Given the description of an element on the screen output the (x, y) to click on. 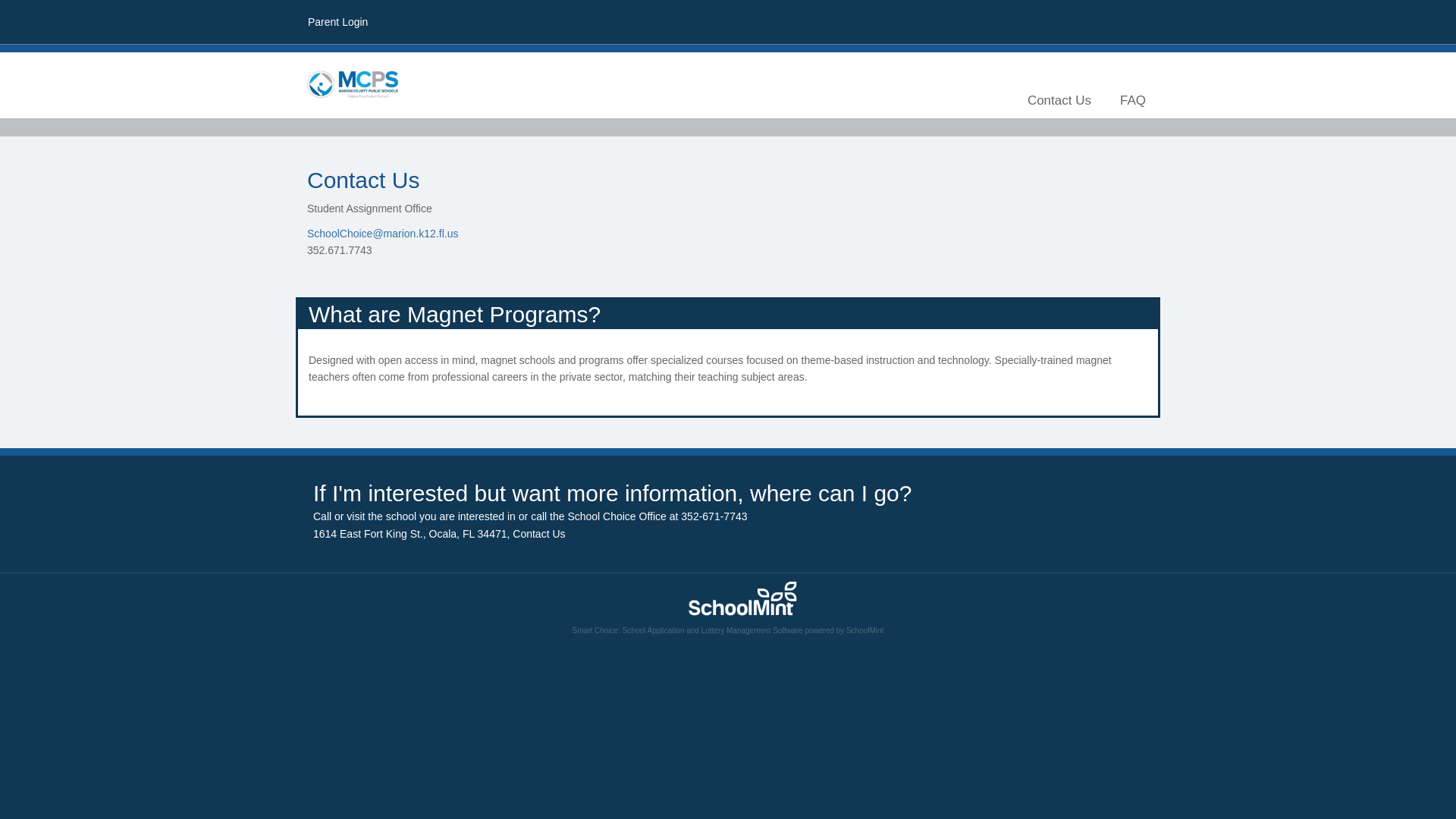
SchoolMint (864, 630)
Parent Login (337, 21)
FAQ (1132, 100)
Contact Us (1059, 100)
Contact Us (538, 533)
This page took 0.16341018676758 seconds to render (727, 603)
